Given the description of an element on the screen output the (x, y) to click on. 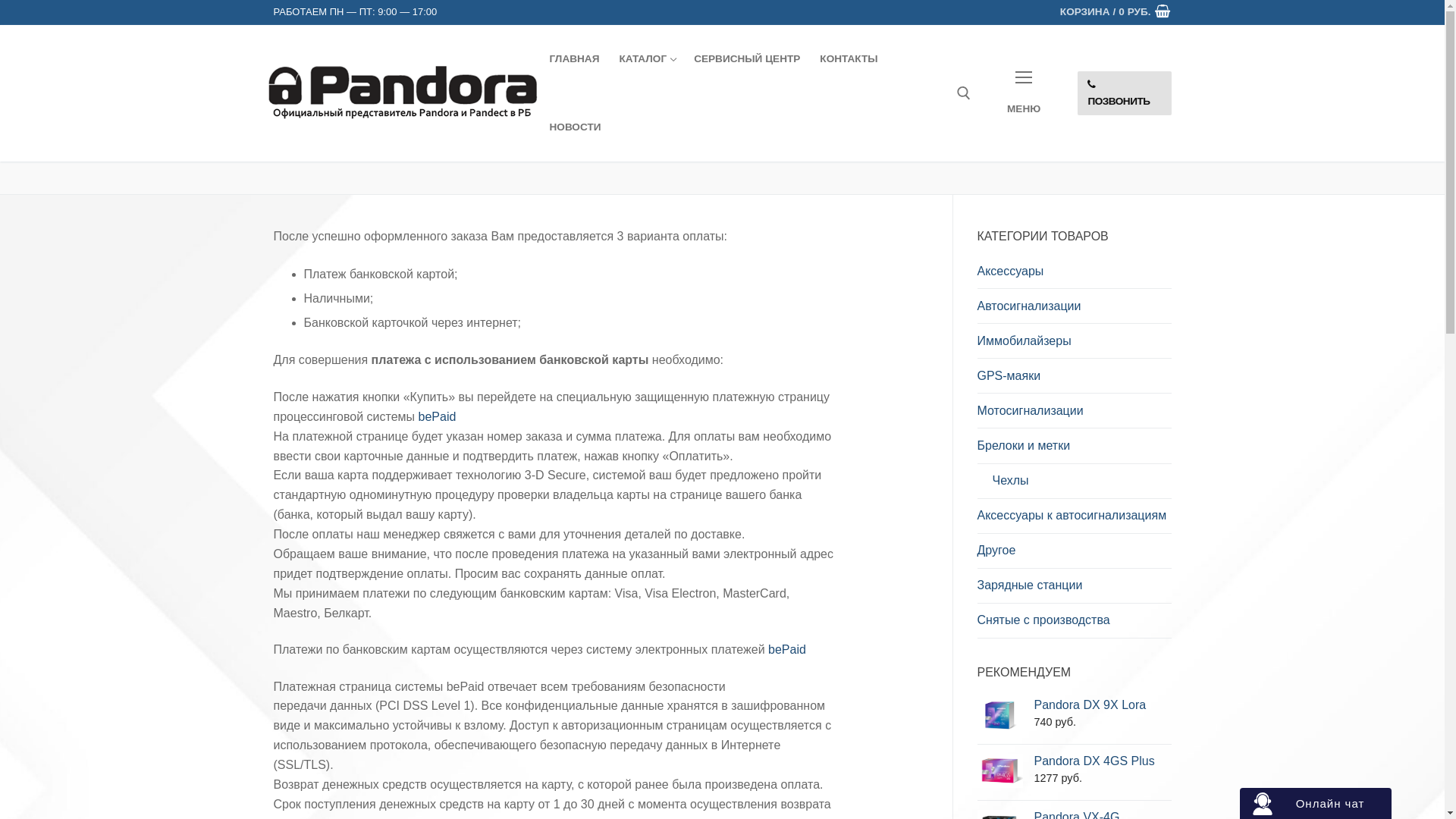
Pandora DX 4GS Plus Element type: text (1102, 760)
bePaid Element type: text (437, 416)
Pandora DX 9X Lora Element type: text (1102, 704)
bePaid Element type: text (787, 649)
